Given the description of an element on the screen output the (x, y) to click on. 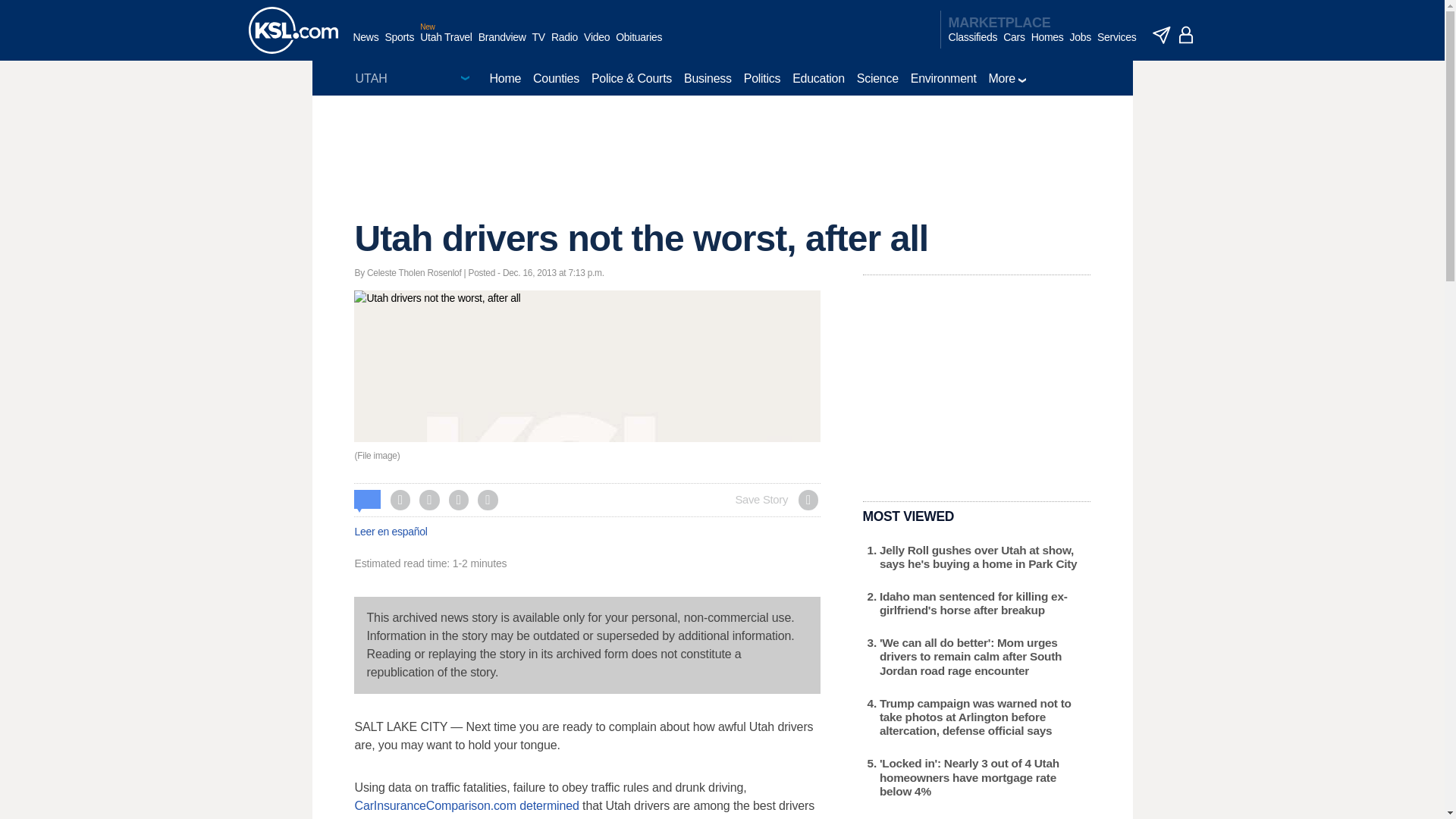
Sports (398, 45)
KSL homepage (292, 29)
account - logged out (1185, 34)
Brandview (502, 45)
Utah Travel (445, 45)
KSL homepage (292, 30)
